Given the description of an element on the screen output the (x, y) to click on. 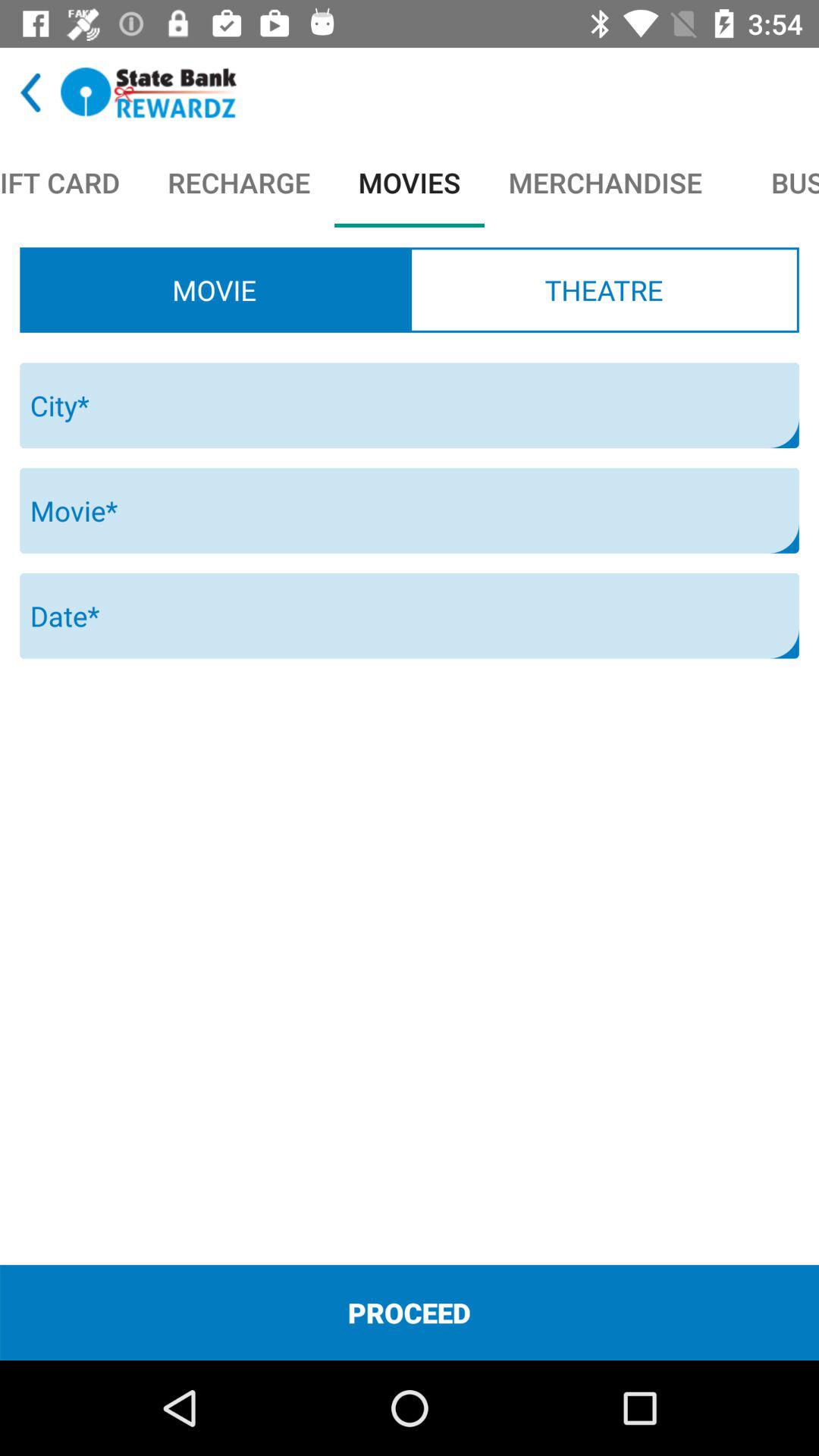
swipe to the proceed item (409, 1312)
